Given the description of an element on the screen output the (x, y) to click on. 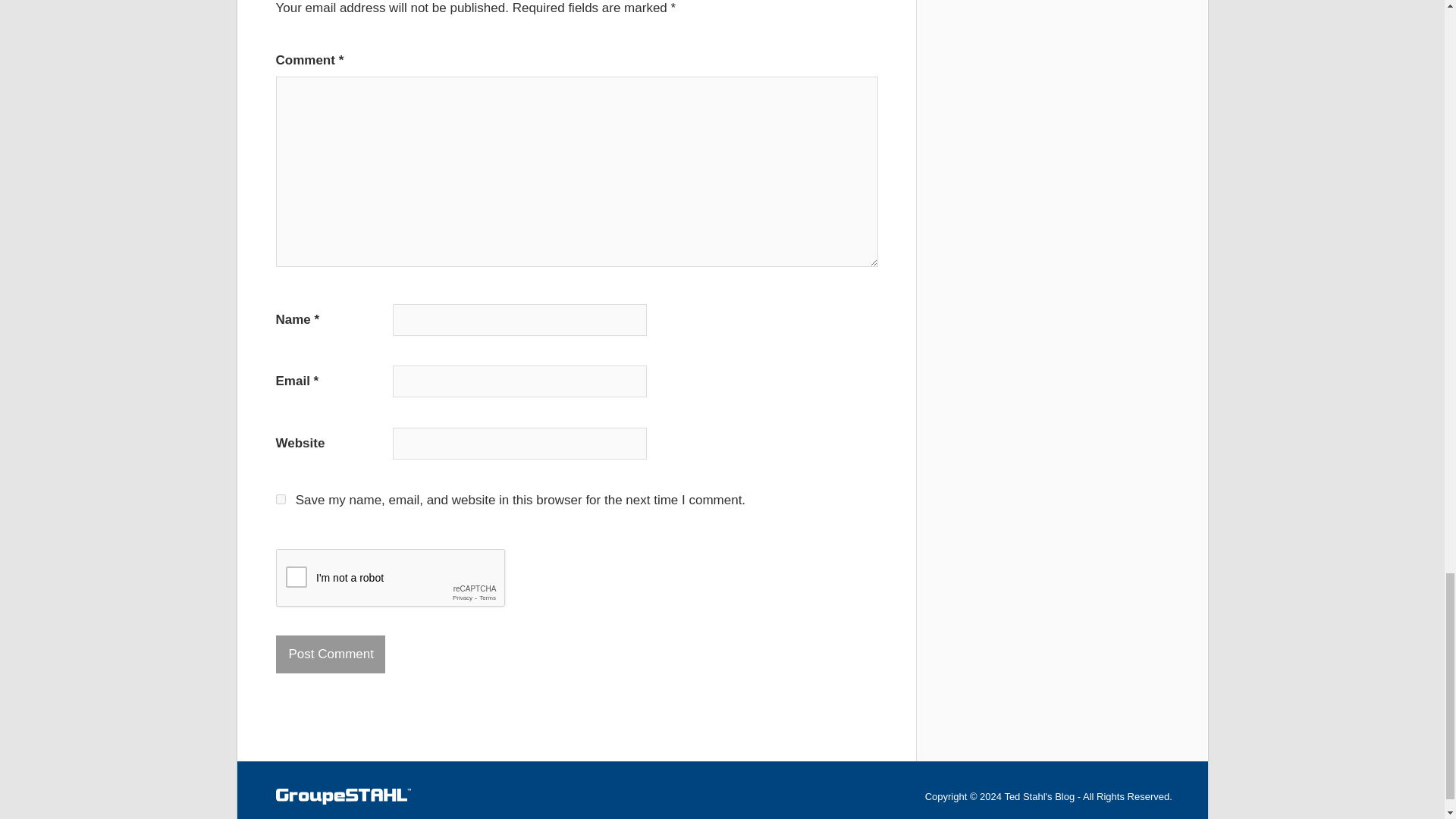
reCAPTCHA (391, 578)
yes (280, 499)
Post Comment (330, 654)
